Given the description of an element on the screen output the (x, y) to click on. 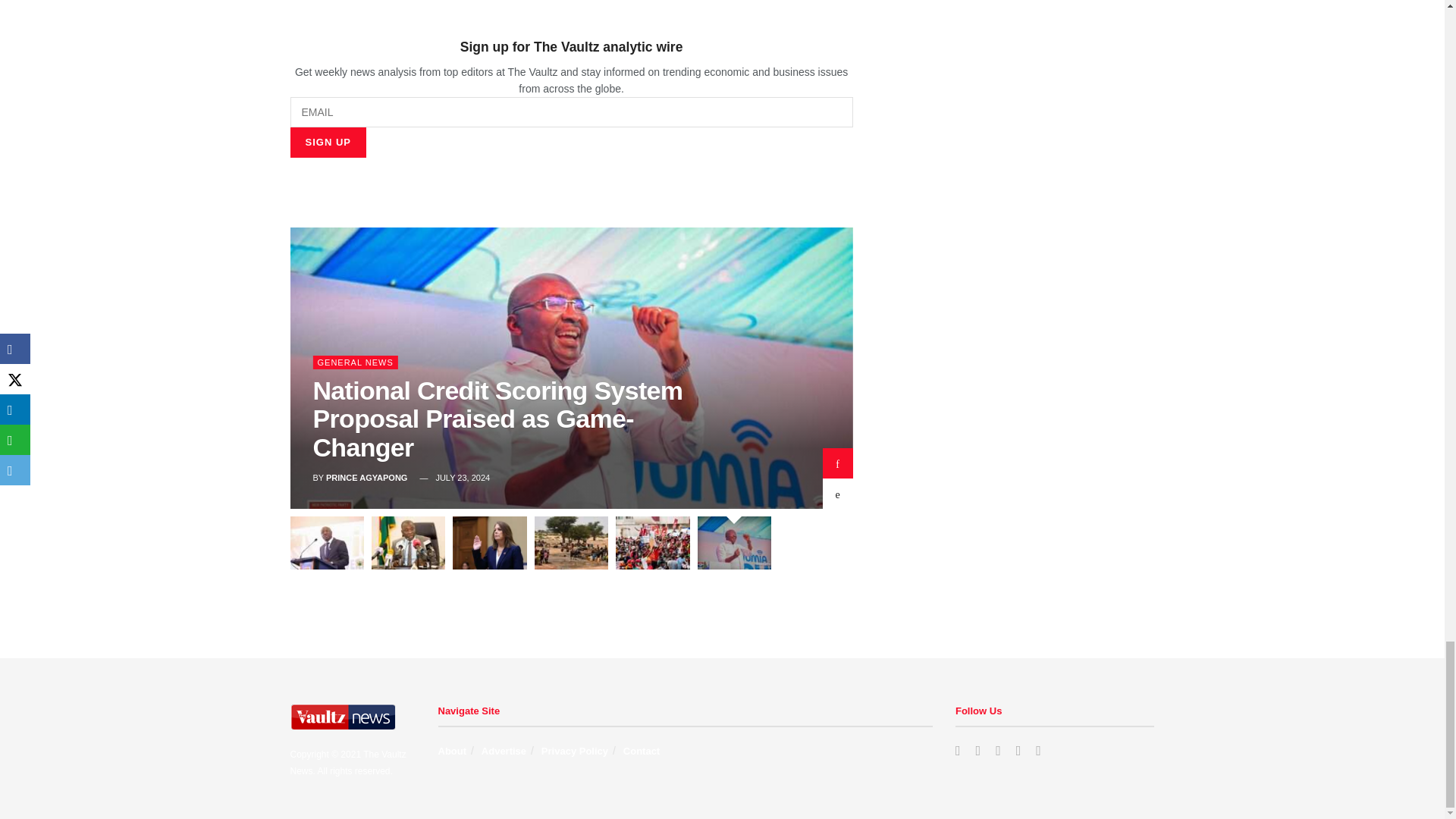
Sign up (327, 142)
